Given the description of an element on the screen output the (x, y) to click on. 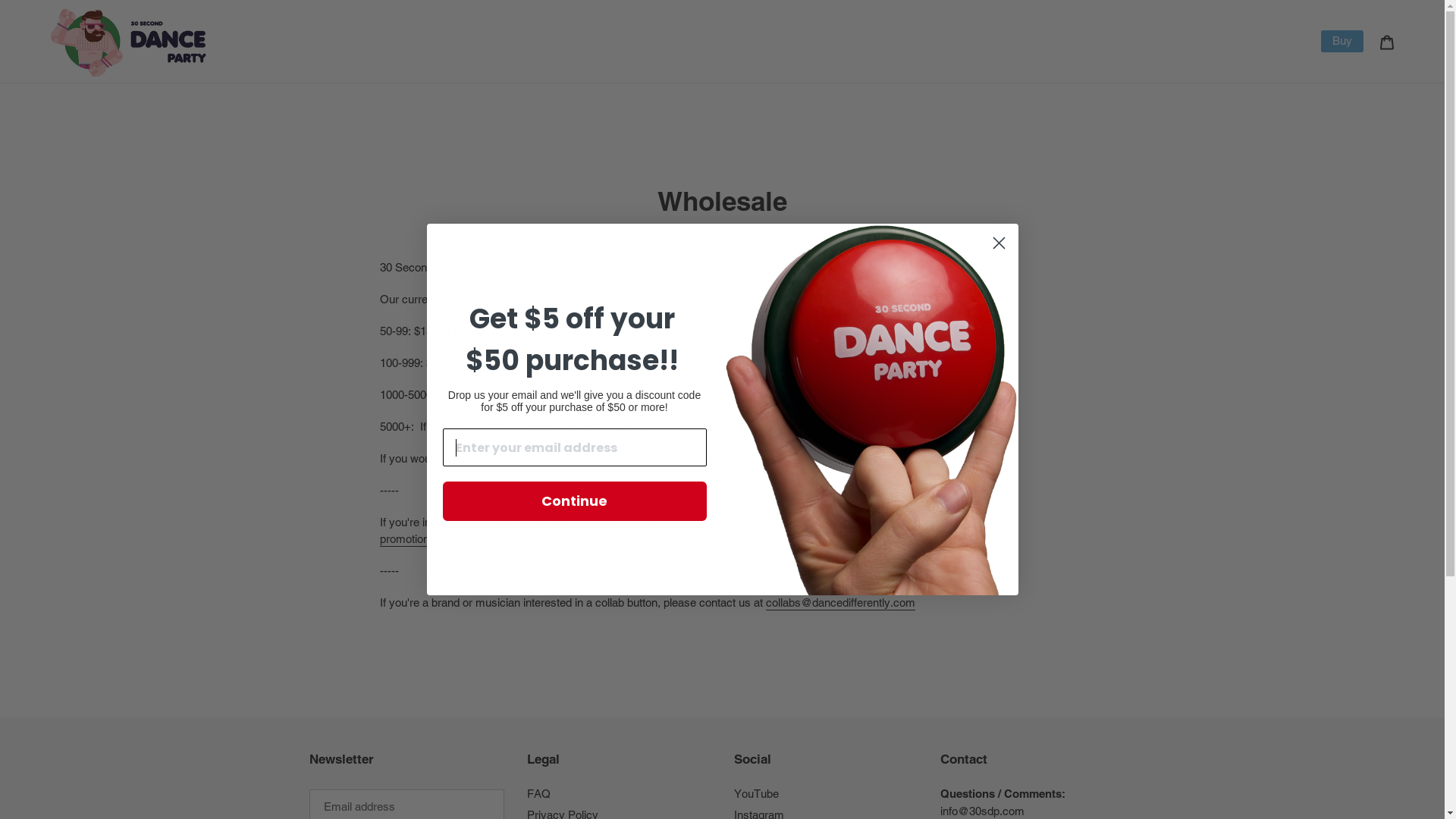
collabs@dancedifferently.com Element type: text (840, 603)
Cart Element type: text (1386, 41)
Continue Element type: text (574, 500)
promotional@dancedifferently.com Element type: text (465, 539)
Submit Element type: text (31, 15)
YouTube Element type: text (756, 793)
Buy Element type: text (1342, 41)
wholesale@dancedifferently.com Element type: text (775, 458)
FAQ Element type: text (538, 793)
